Given the description of an element on the screen output the (x, y) to click on. 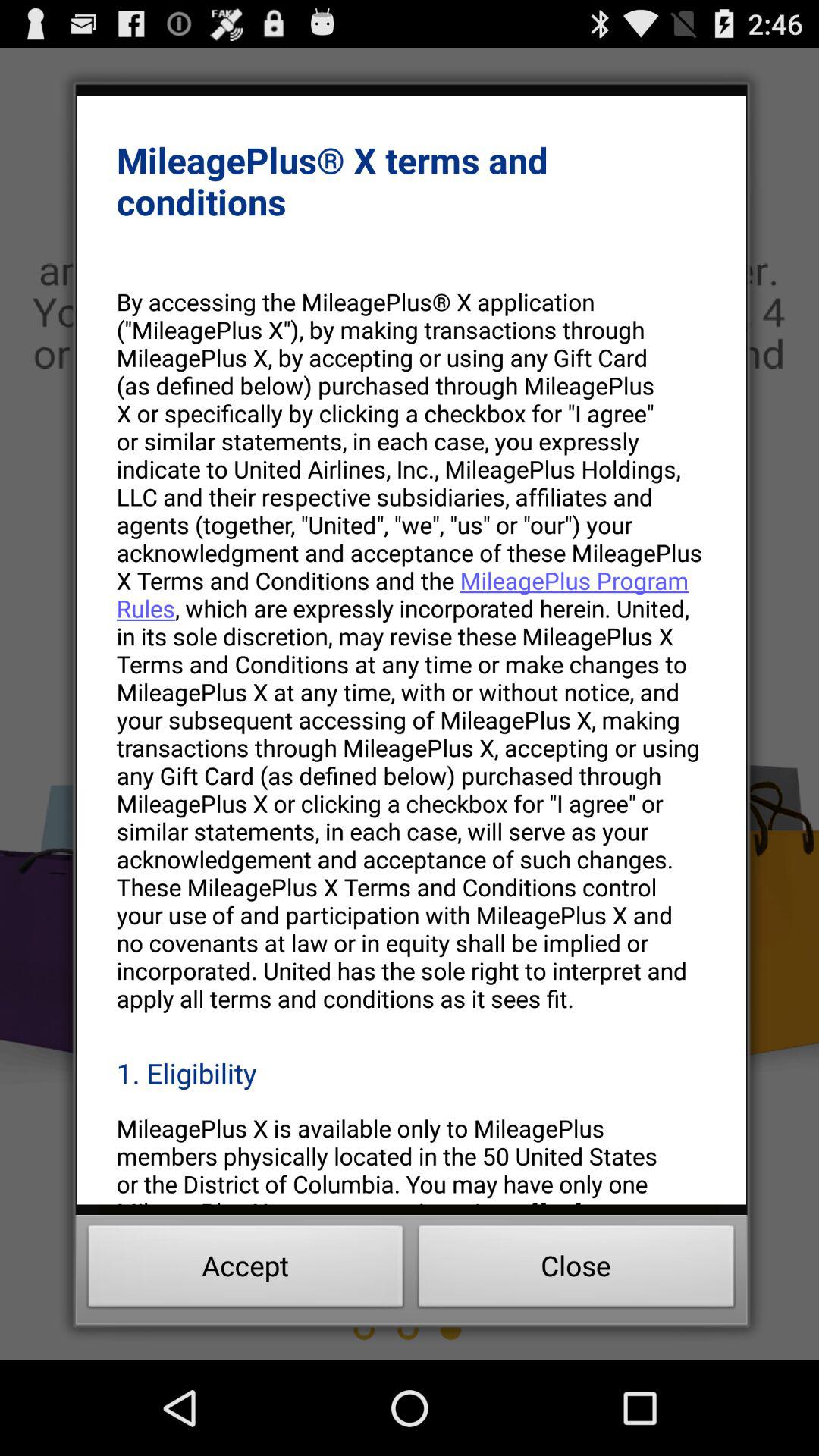
launch accept button (245, 1270)
